Given the description of an element on the screen output the (x, y) to click on. 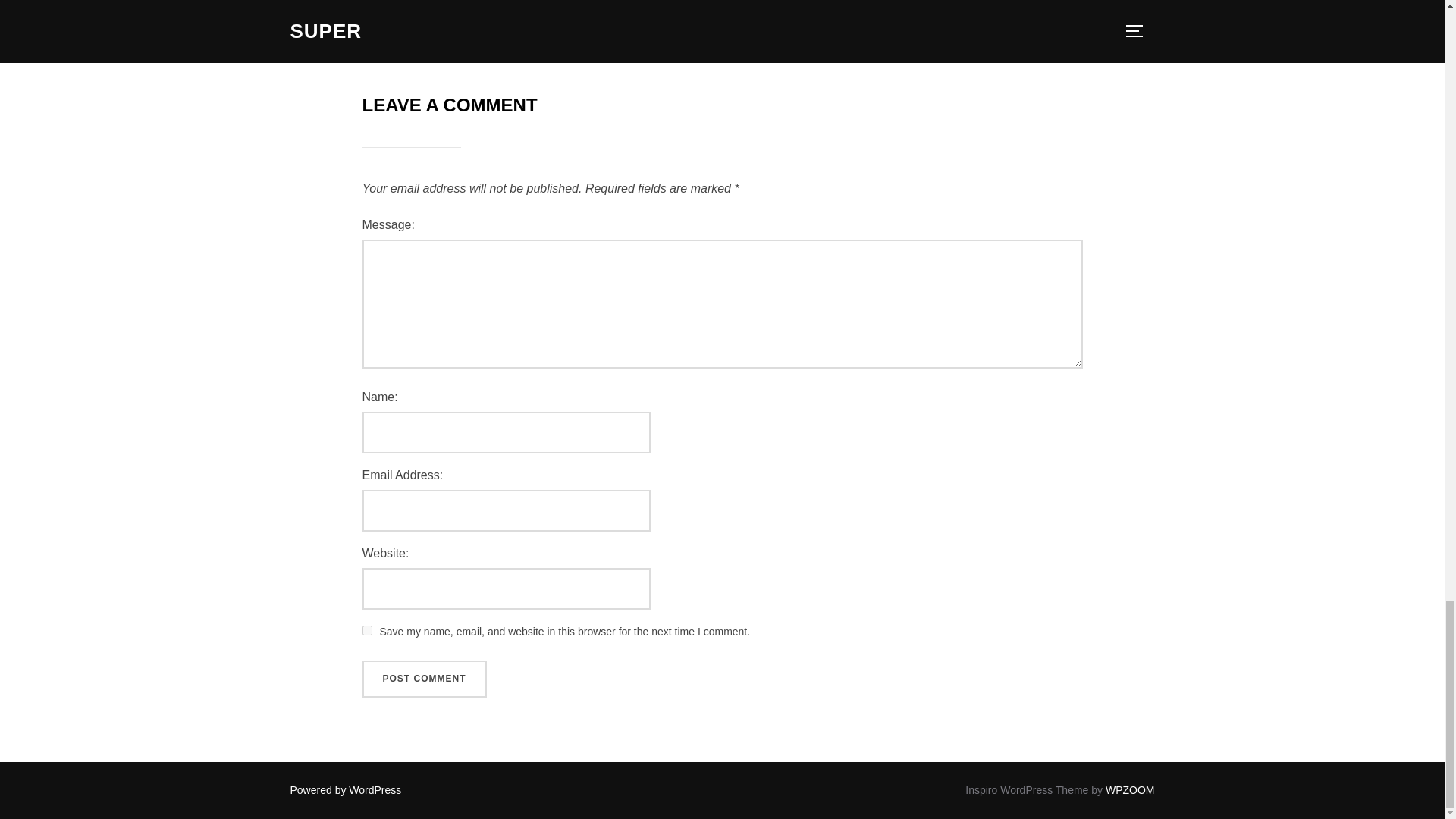
yes (367, 630)
Post Comment (424, 679)
Post Comment (424, 679)
Powered by WordPress (345, 789)
WPZOOM (1129, 789)
